Given the description of an element on the screen output the (x, y) to click on. 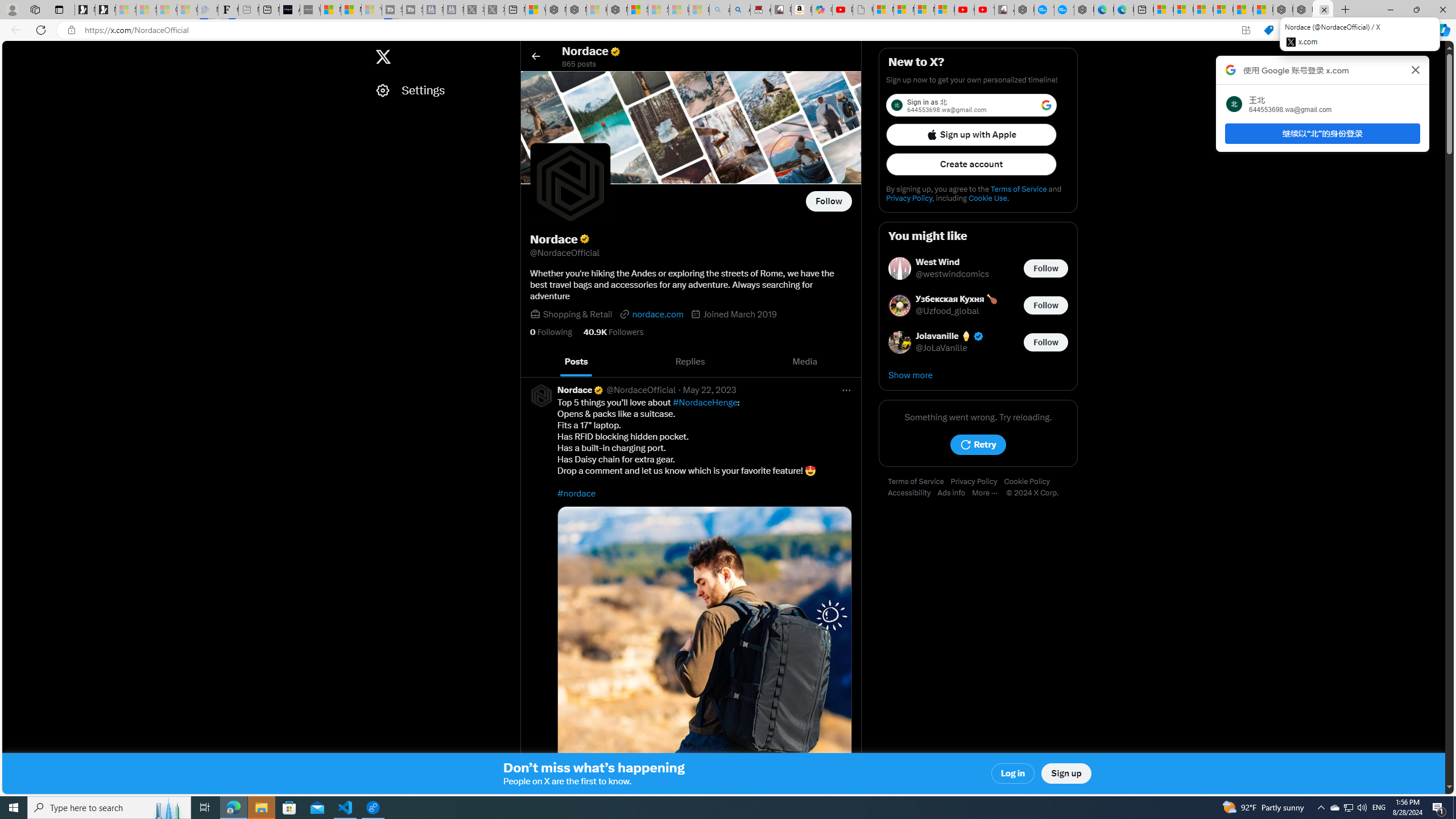
Day 1: Arriving in Yemen (surreal to be here) - YouTube (842, 9)
@Uzfood_global (947, 311)
@NordaceOfficial (640, 389)
Terms of Service (919, 481)
Provides details about verified accounts. (583, 238)
